Given the description of an element on the screen output the (x, y) to click on. 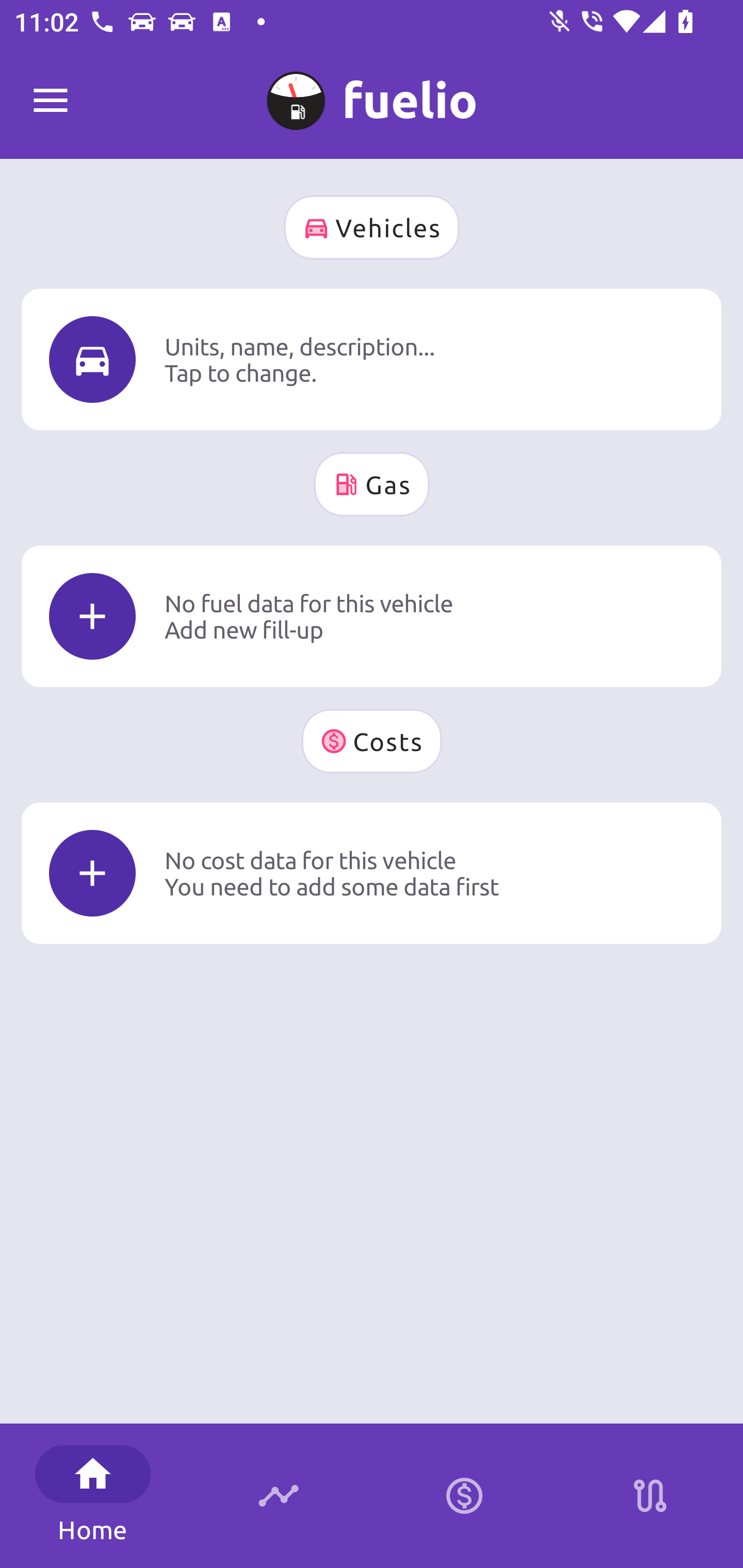
M My Car 0 km (371, 92)
Fuelio (50, 101)
Vehicles (371, 227)
Icon Units, name, description...
Tap to change. (371, 358)
Icon (92, 359)
Gas (371, 484)
Icon No fuel data for this vehicle
Add new fill-up (371, 615)
Icon (92, 616)
Costs (371, 740)
Icon (92, 873)
Timeline (278, 1495)
Calculator (464, 1495)
Stations on route (650, 1495)
